Given the description of an element on the screen output the (x, y) to click on. 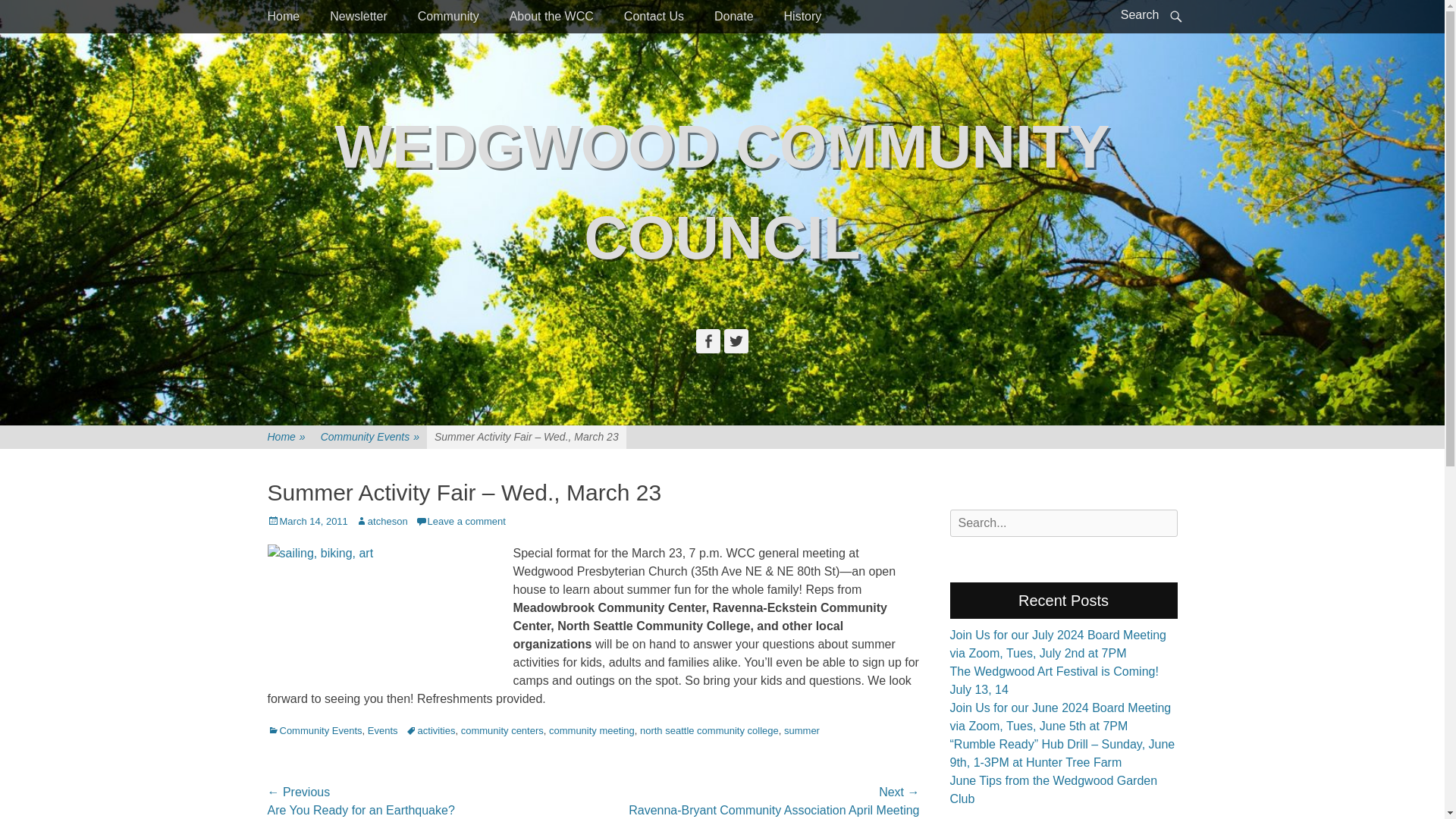
Facebook (707, 340)
Events (382, 730)
Leave a comment (459, 521)
Twitter (735, 340)
Facebook (707, 340)
Search for: (1062, 523)
Community Events (313, 730)
activities (430, 730)
Home (282, 16)
History (802, 16)
Donate (733, 16)
March 14, 2011 (306, 521)
Twitter (735, 340)
Newsletter (358, 16)
community meeting (591, 730)
